Given the description of an element on the screen output the (x, y) to click on. 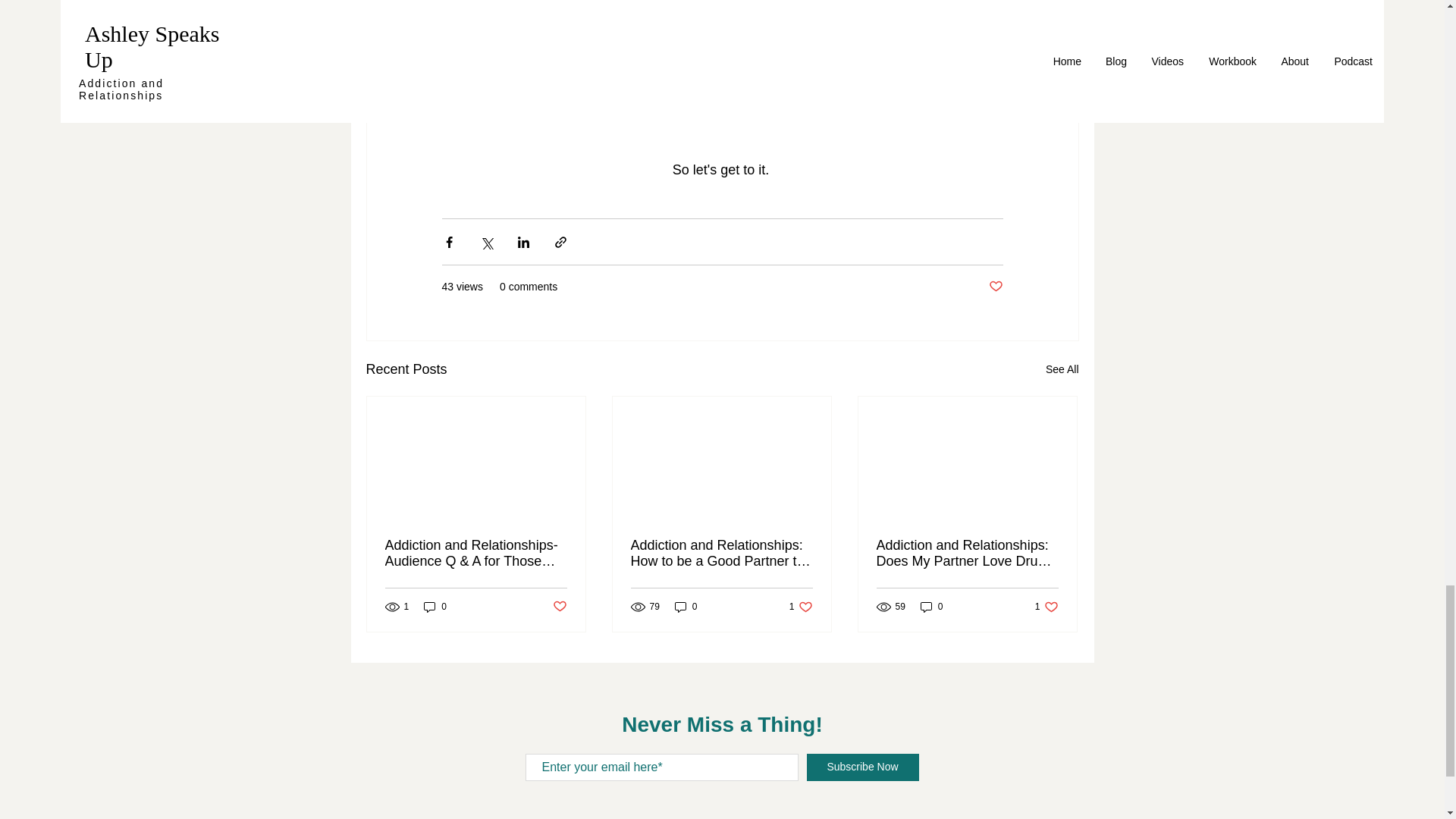
Subscribe Now (862, 767)
Post not marked as liked (1046, 605)
0 (995, 286)
Post not marked as liked (931, 605)
0 (558, 606)
0 (685, 605)
